Given the description of an element on the screen output the (x, y) to click on. 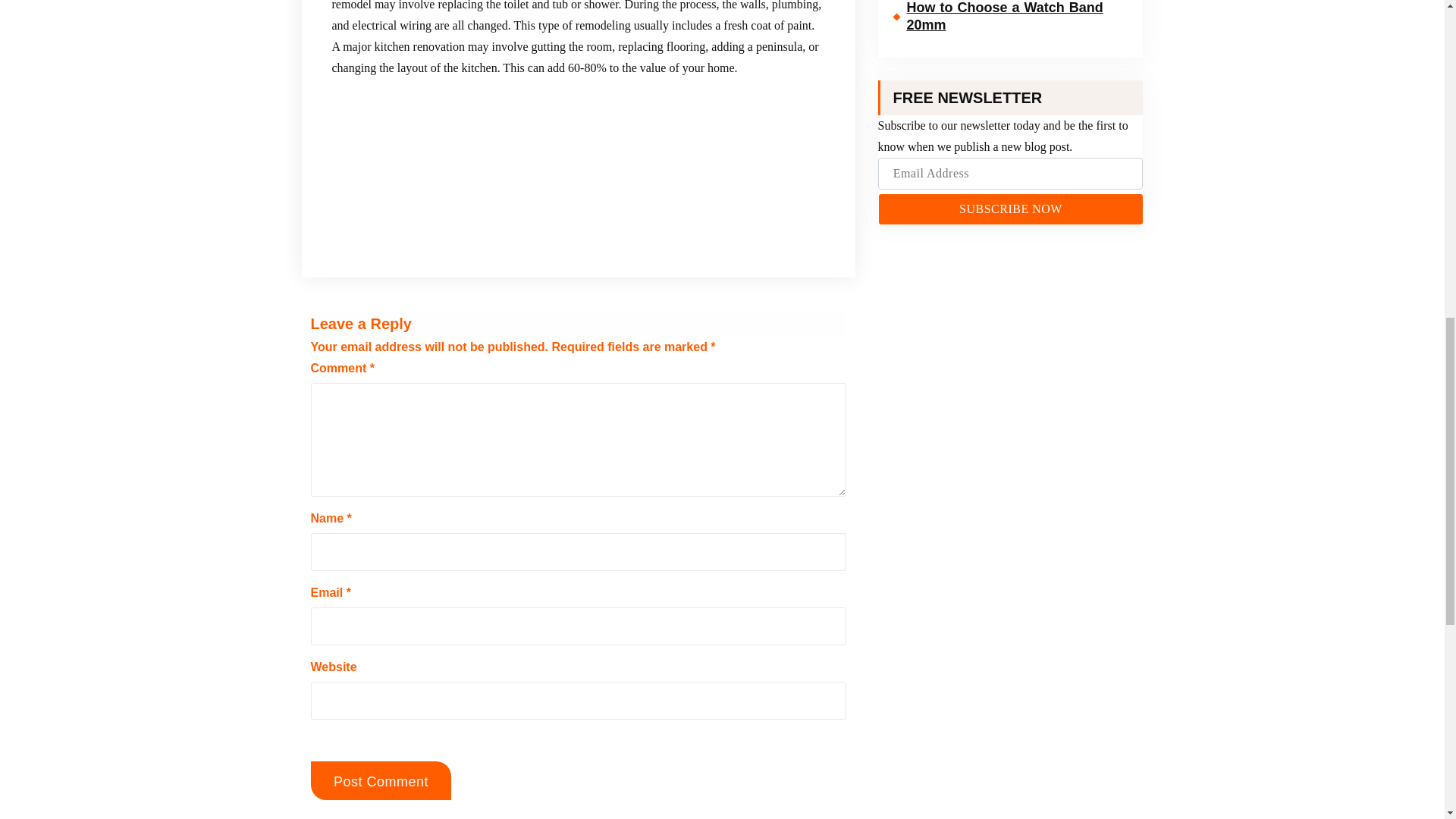
SUBSCRIBE NOW (1009, 209)
Post Comment (381, 780)
How to Choose a Watch Band 20mm (1010, 21)
Post Comment (381, 780)
SUBSCRIBE NOW (1009, 209)
